Given the description of an element on the screen output the (x, y) to click on. 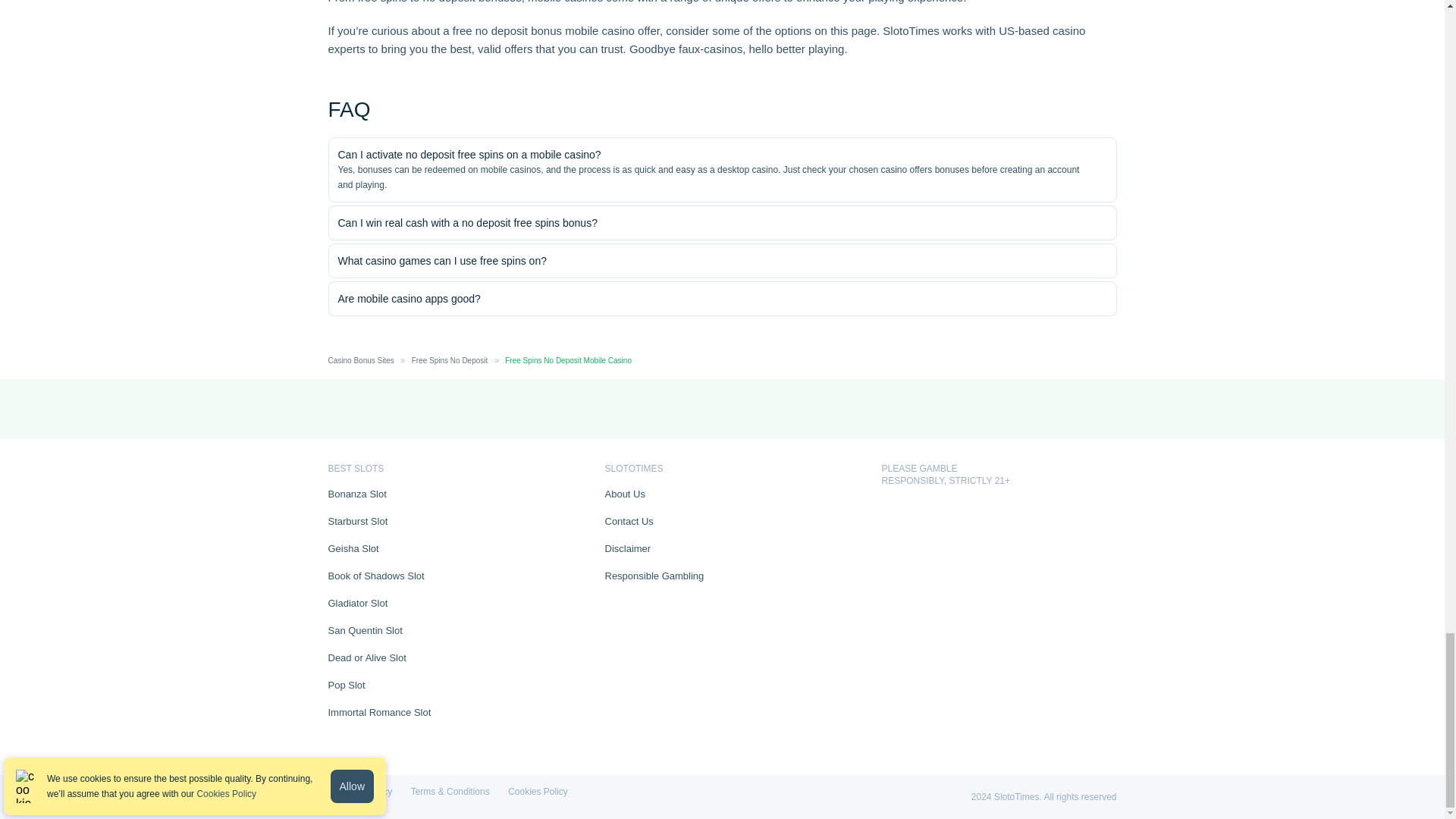
DMCA.com Protection Status (911, 509)
